Given the description of an element on the screen output the (x, y) to click on. 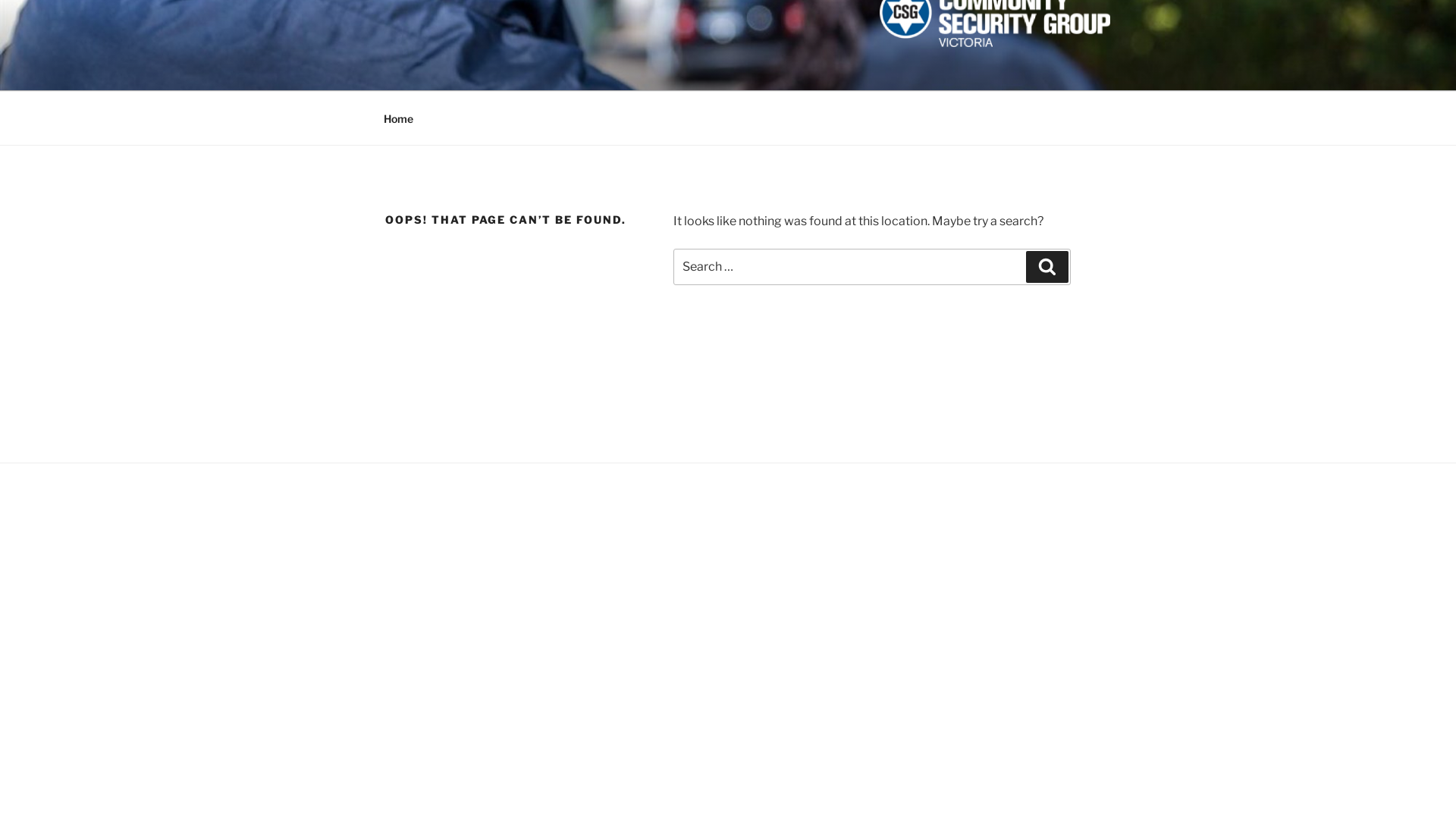
Skip to content Element type: text (0, 0)
Home Element type: text (398, 118)
Search Element type: text (1047, 266)
COMMUNITY SECURITY GROUP Element type: text (629, 70)
